Given the description of an element on the screen output the (x, y) to click on. 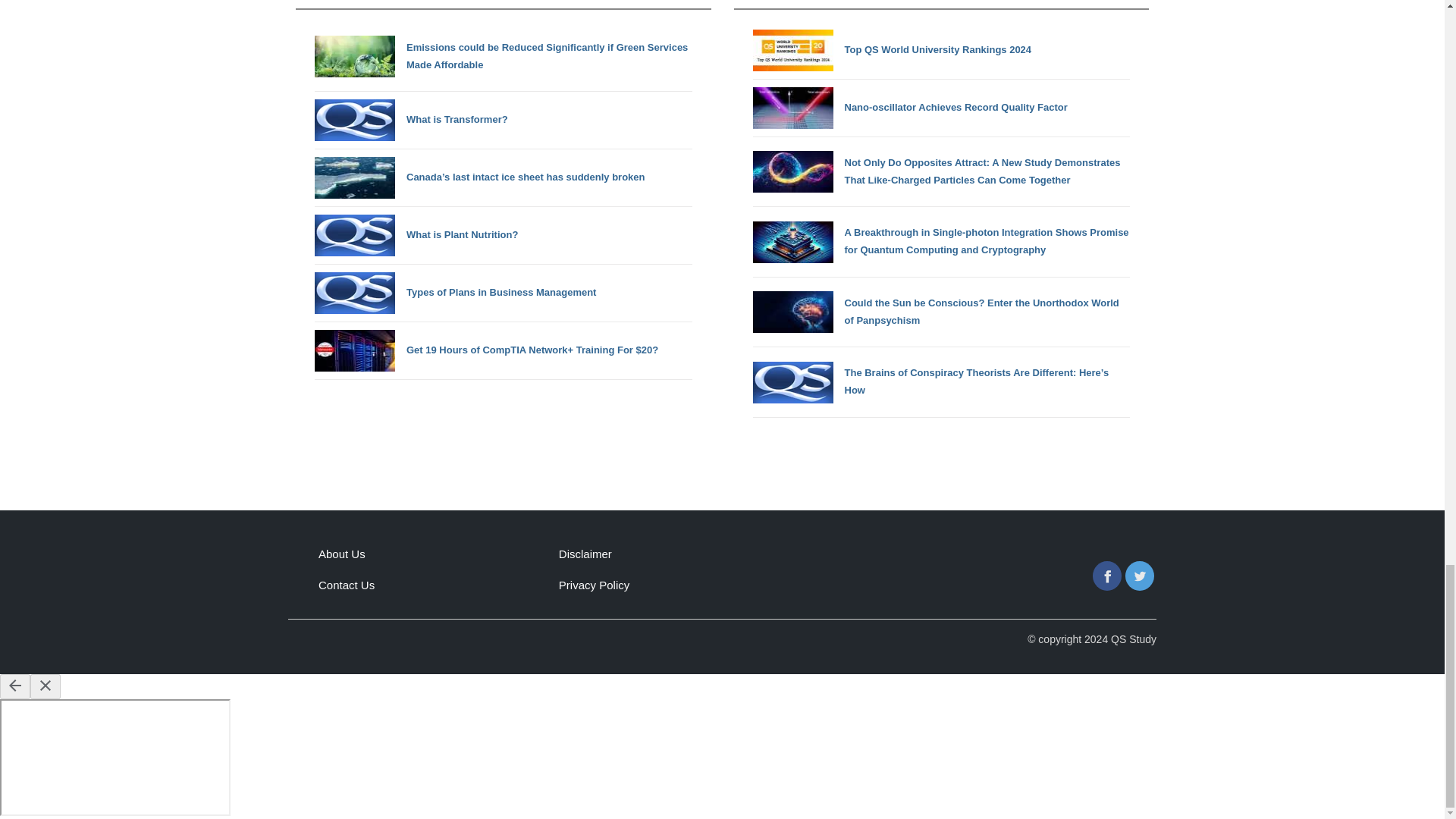
What is Transformer? (503, 119)
What is Plant Nutrition? (503, 235)
Nano-oscillator Achieves Record Quality Factor (940, 107)
Types of Plans in Business Management (503, 292)
Top QS World University Rankings 2024 (940, 50)
Contact Us (346, 584)
About Us (341, 553)
